Given the description of an element on the screen output the (x, y) to click on. 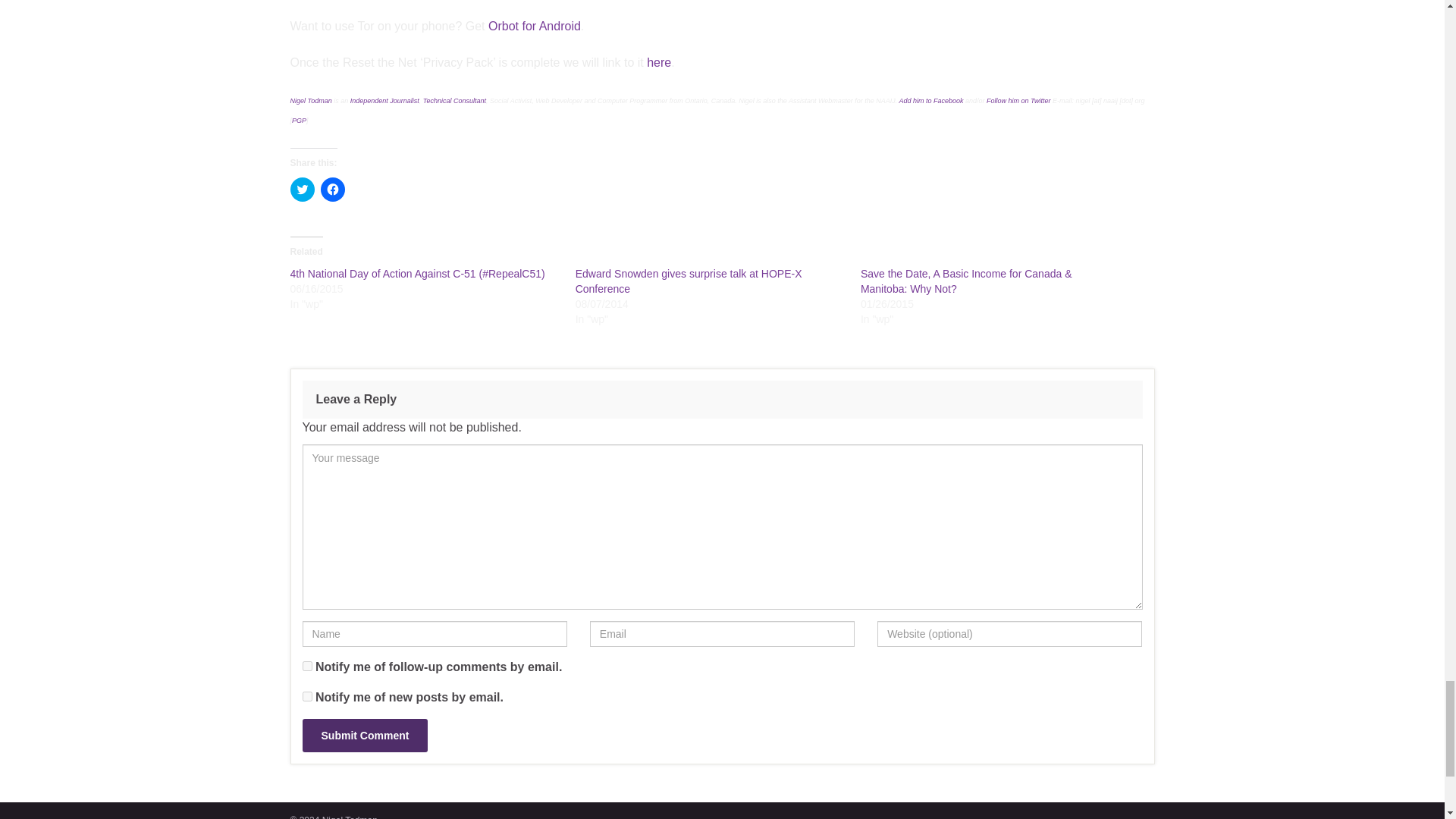
Click to share on Facebook (331, 189)
Orbot for Android (533, 25)
Edward Snowden gives surprise talk at HOPE-X Conference (688, 280)
Add him to Facebook (930, 100)
Nigel Todman (310, 100)
Follow him on Twitter (1018, 100)
Submit Comment (364, 735)
here (658, 62)
Independent Journalist (384, 100)
subscribe (306, 665)
Click to share on Twitter (301, 189)
PGP (298, 120)
subscribe (306, 696)
Technical Consultant (454, 100)
